Given the description of an element on the screen output the (x, y) to click on. 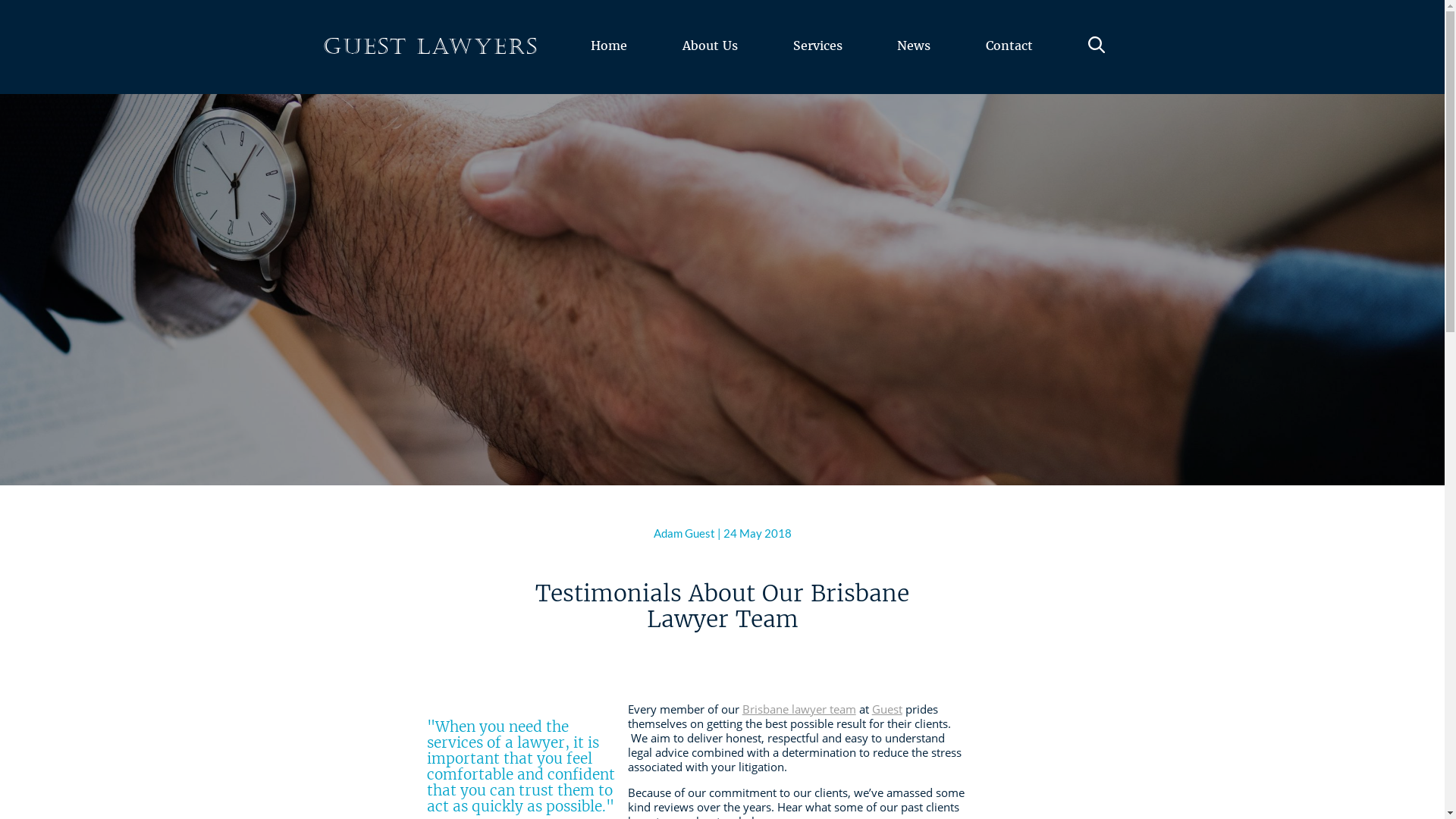
News Element type: text (913, 63)
Brisbane lawyer team Element type: text (799, 708)
Home Element type: text (609, 63)
Guest Element type: text (887, 708)
Contact Element type: text (1009, 63)
About Us Element type: text (709, 63)
Services Element type: text (817, 63)
GUEST LAWYERS Element type: text (430, 46)
